Given the description of an element on the screen output the (x, y) to click on. 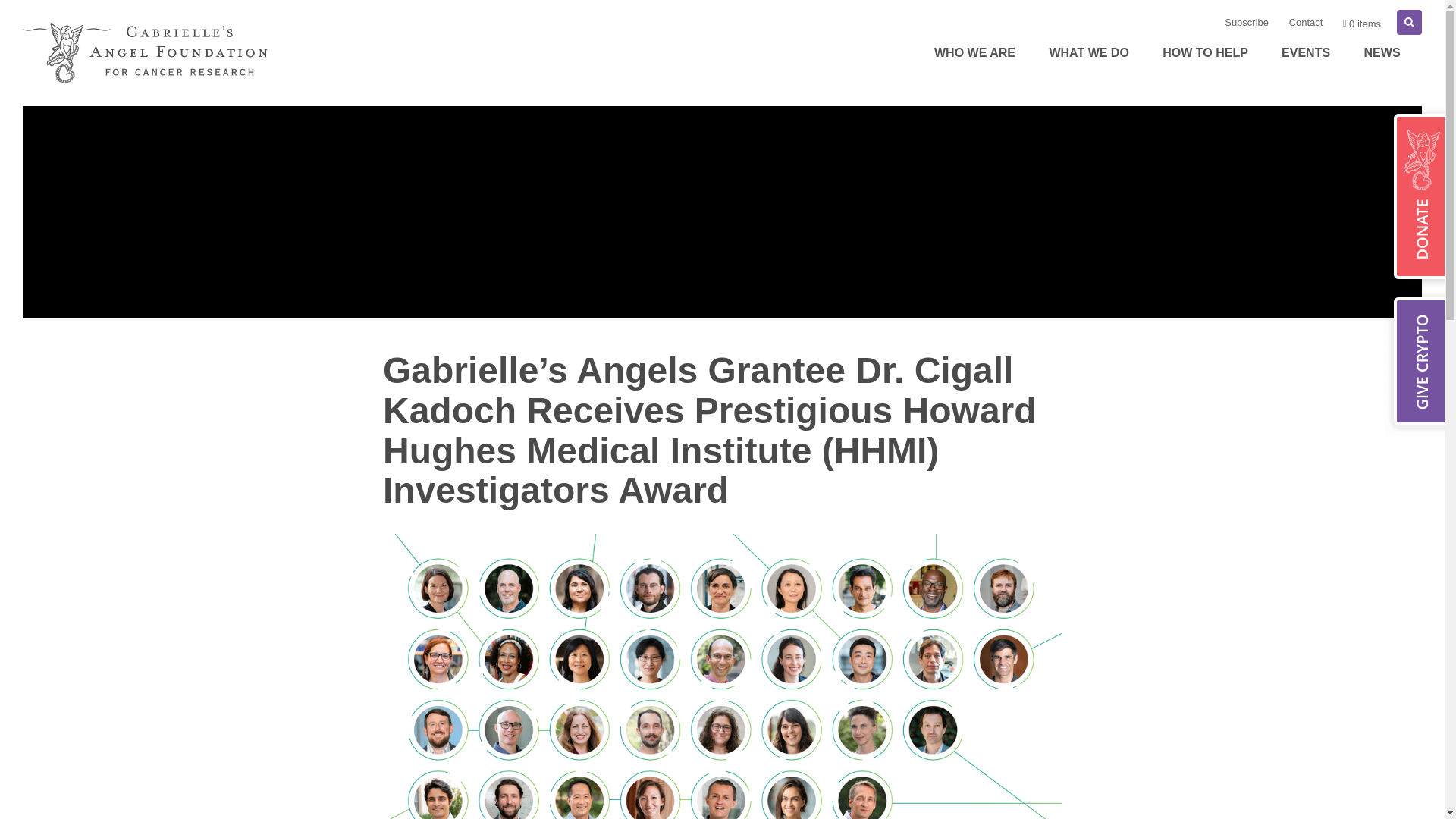
0 items (1362, 22)
Gabrielle's Angel Foundation (145, 52)
NEWS  (1387, 53)
WHO WE ARE  (978, 53)
HOW TO HELP  (1209, 53)
Contact  (1307, 22)
Search (1409, 22)
WHAT WE DO  (1093, 53)
Start shopping (1362, 22)
Subscribe  (1247, 22)
EVENTS  (1310, 53)
